Given the description of an element on the screen output the (x, y) to click on. 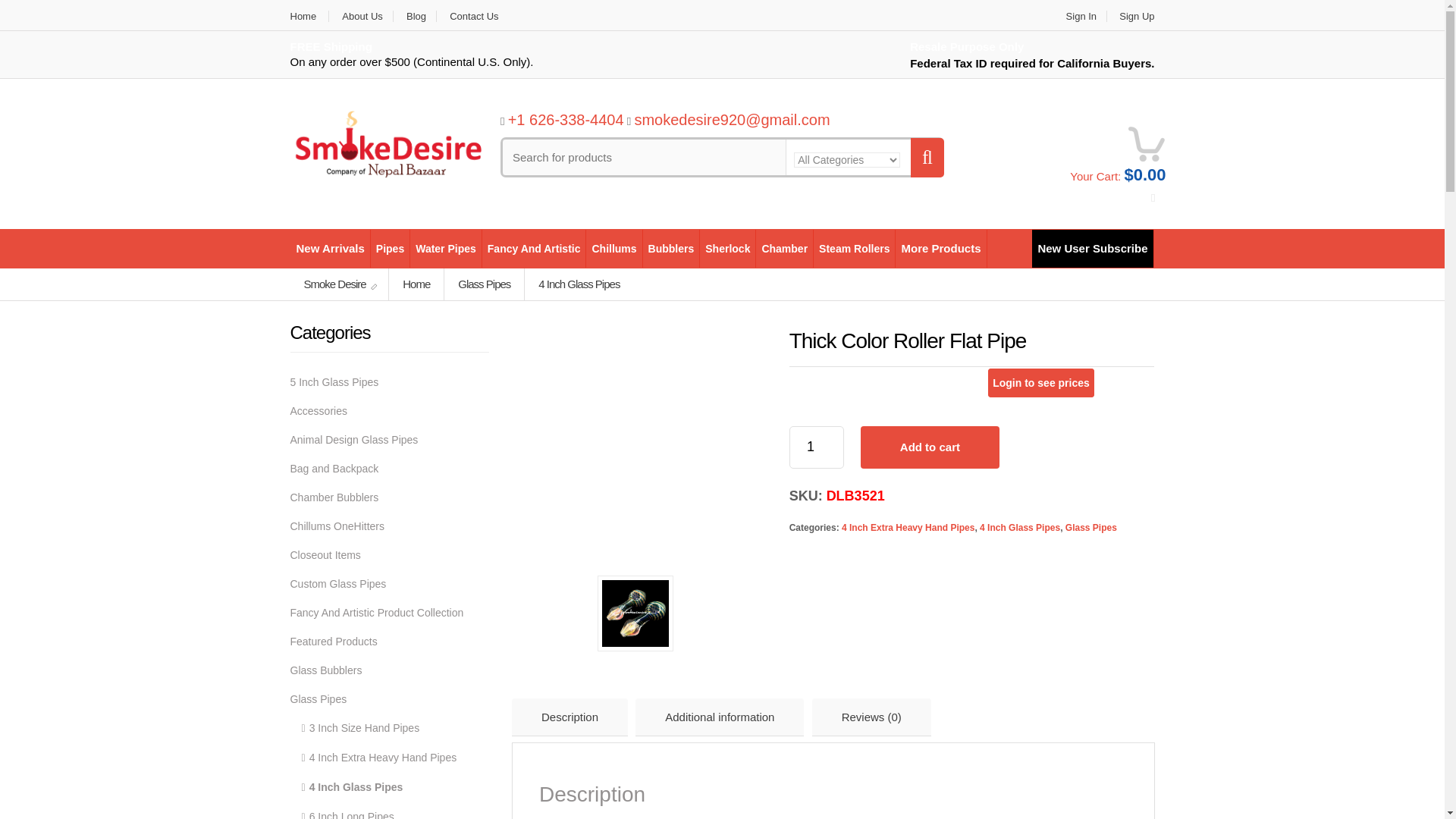
About Us (362, 16)
Contact Us (473, 16)
Home (309, 16)
Sign In (1081, 16)
Sign Up (1131, 16)
Blog (416, 16)
Contact Us (473, 16)
Home (309, 16)
About Us (362, 16)
Sign In (1081, 16)
Sign Up (1131, 16)
1 (816, 446)
Blog (416, 16)
